Given the description of an element on the screen output the (x, y) to click on. 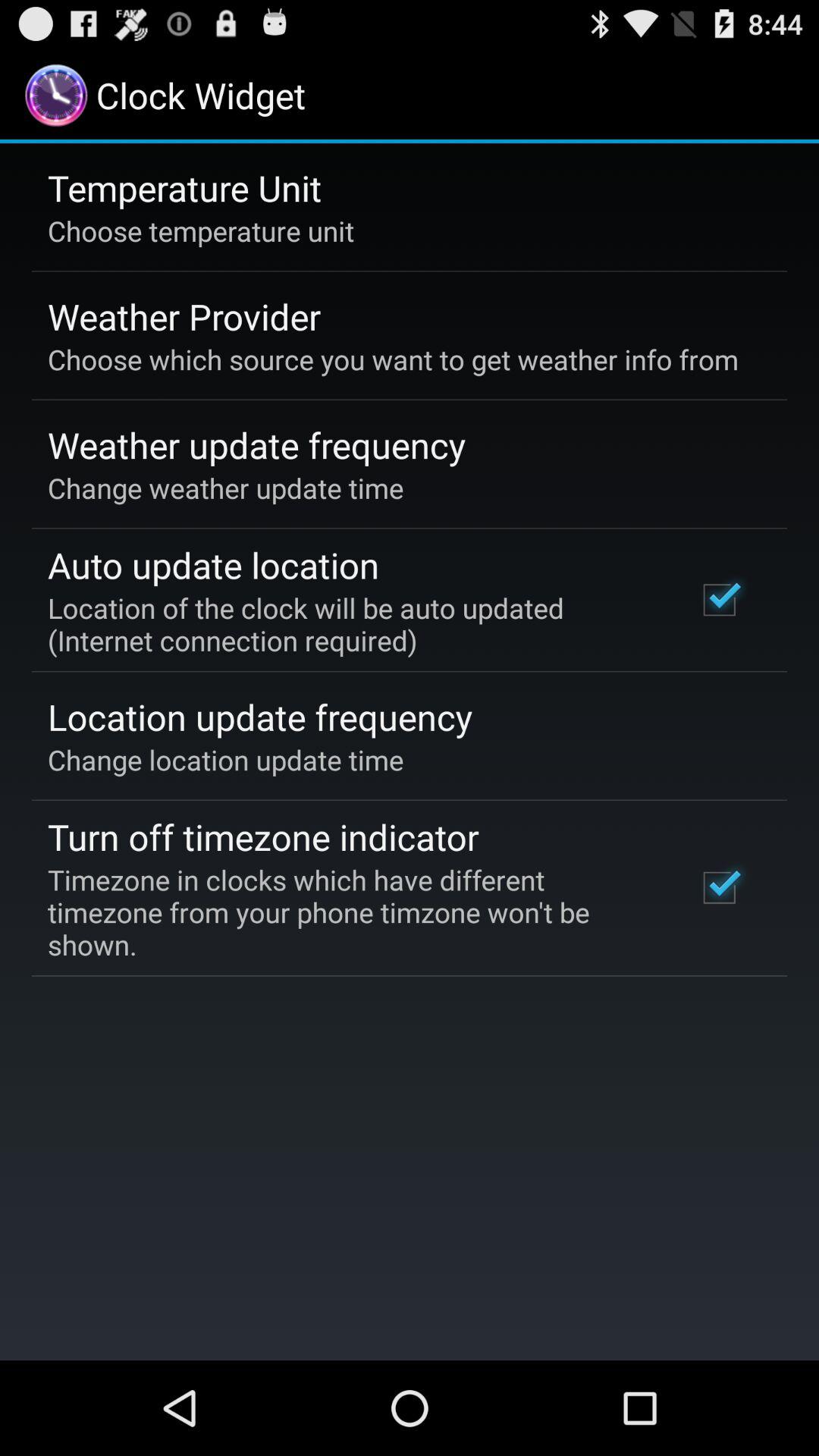
select last check box (719, 888)
click on the logo at top left corner of the page (55, 95)
